Given the description of an element on the screen output the (x, y) to click on. 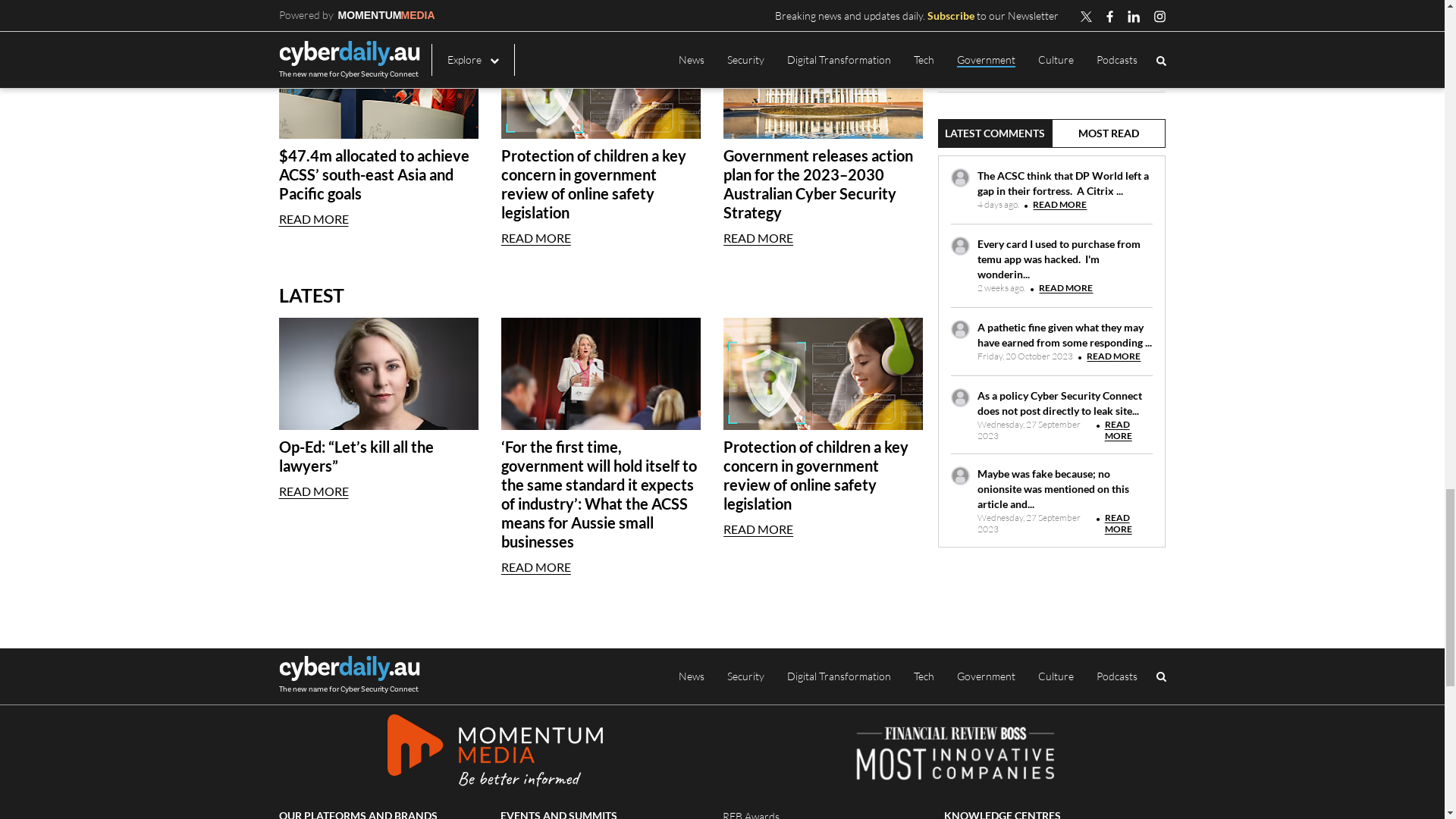
GOVERNMENT Element type: text (522, 370)
CLICK HERE TO LEARN ALL ABOUT IT Element type: text (1041, 628)
Charbel Kadib Element type: text (327, 370)
